Given the description of an element on the screen output the (x, y) to click on. 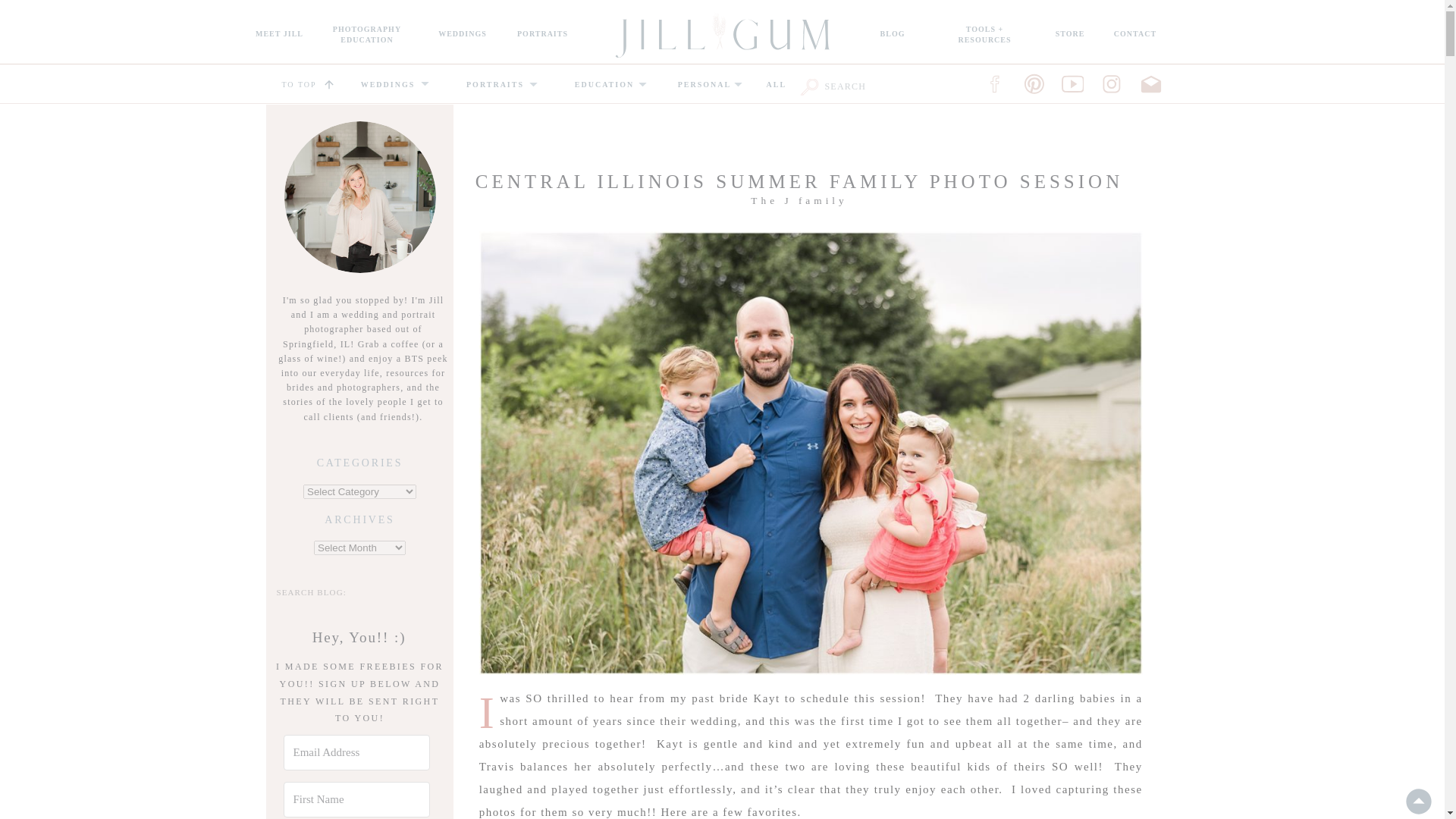
PERSONAL (367, 36)
STORE (705, 86)
ALL  (1070, 36)
PORTRAITS (776, 86)
WEDDINGS (542, 36)
EDUCATION (387, 86)
MEET JILL (603, 86)
BLOG (279, 36)
TO TOP (892, 36)
